Given the description of an element on the screen output the (x, y) to click on. 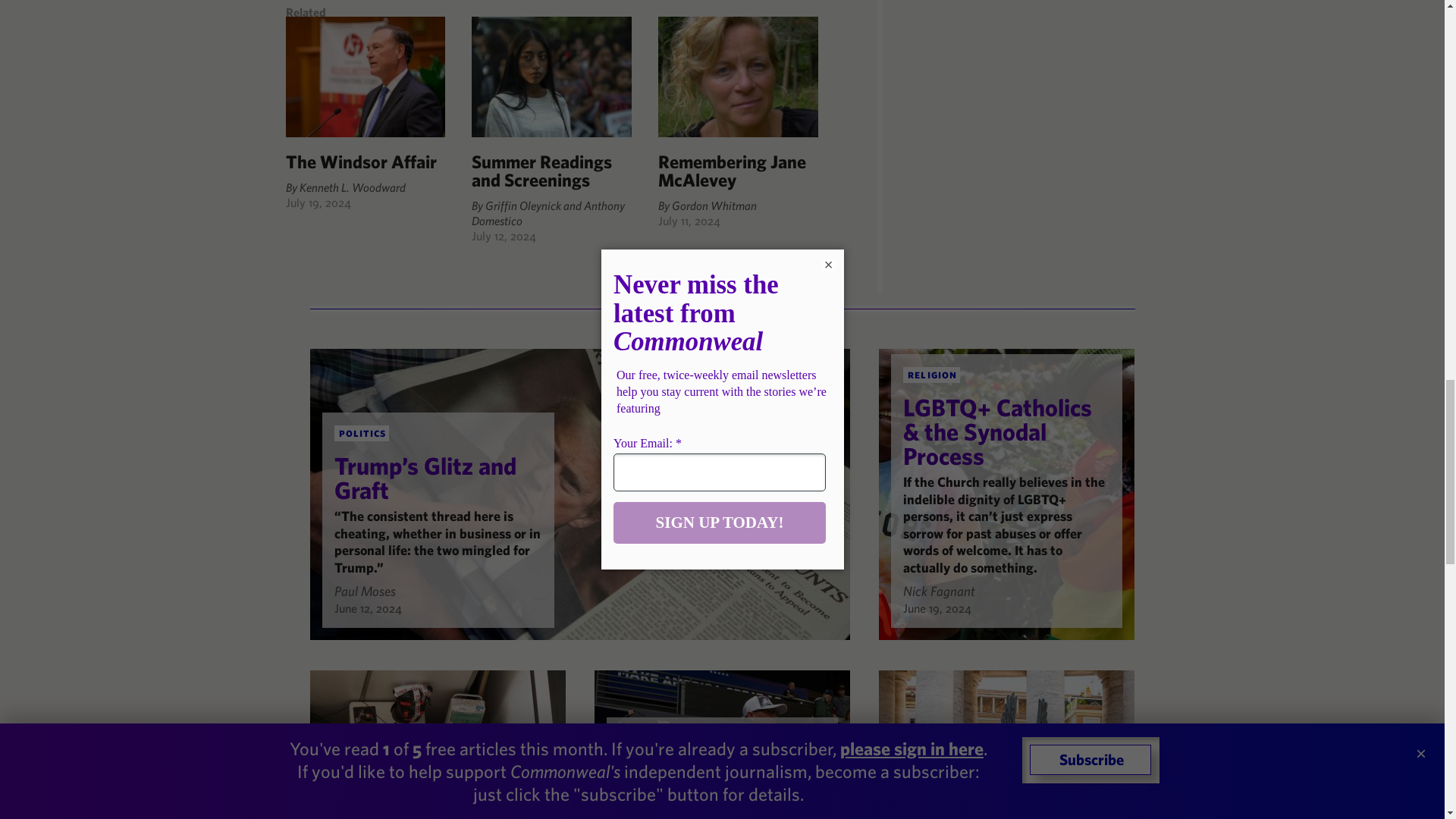
Thursday, July 11, 2024 - 16:30 (689, 220)
Friday, July 19, 2024 - 12:09 (317, 202)
Wednesday, June 19, 2024 - 13:57 (936, 608)
View user profile. (363, 590)
Friday, July 12, 2024 - 11:07 (503, 235)
View user profile. (938, 590)
Wednesday, June 12, 2024 - 10:53 (367, 608)
